Given the description of an element on the screen output the (x, y) to click on. 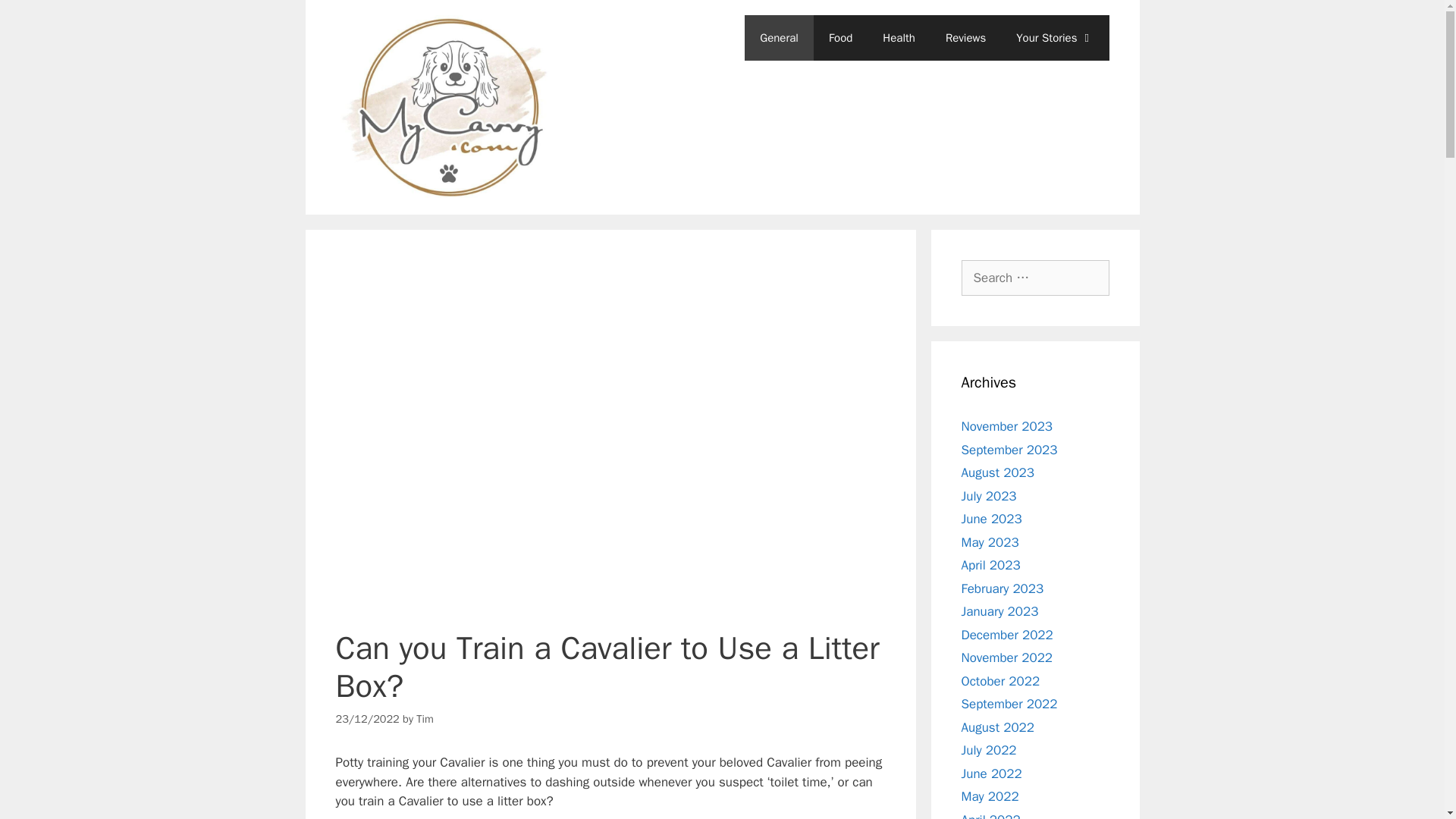
November 2023 (1006, 426)
November 2022 (1006, 657)
View all posts by Tim (424, 718)
August 2023 (996, 472)
Tim (424, 718)
February 2023 (1001, 588)
Search (35, 18)
October 2022 (1000, 681)
December 2022 (1006, 634)
April 2023 (990, 565)
